Given the description of an element on the screen output the (x, y) to click on. 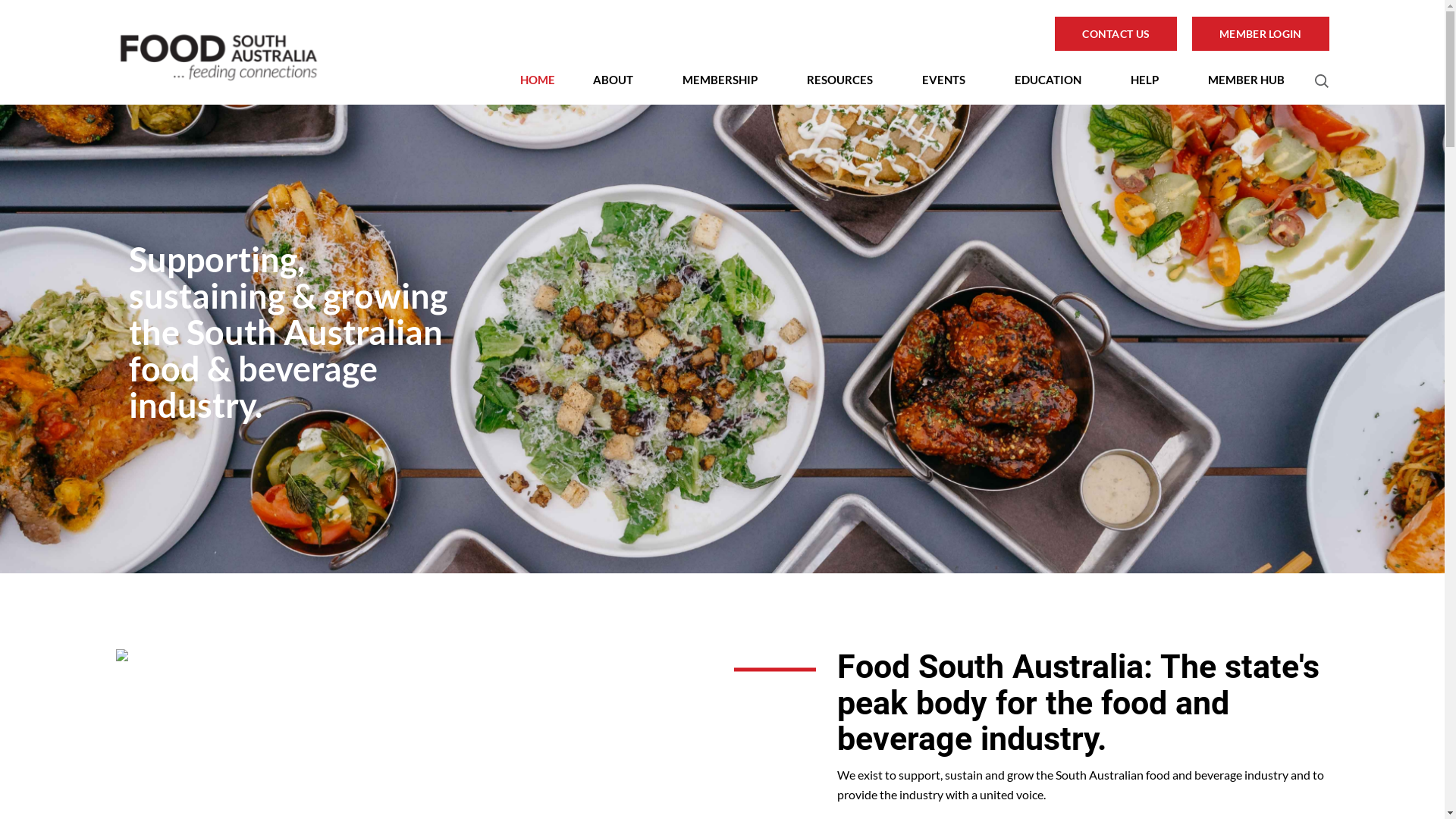
HOME Element type: text (537, 79)
CONTACT US Element type: text (1115, 33)
EDUCATION Element type: text (1053, 79)
ABOUT Element type: text (618, 79)
MEMBER HUB Element type: text (1251, 79)
MEMBER LOGIN Element type: text (1260, 33)
HELP Element type: text (1149, 79)
MEMBERSHIP Element type: text (725, 79)
EVENTS Element type: text (949, 79)
RESOURCES Element type: text (845, 79)
